Given the description of an element on the screen output the (x, y) to click on. 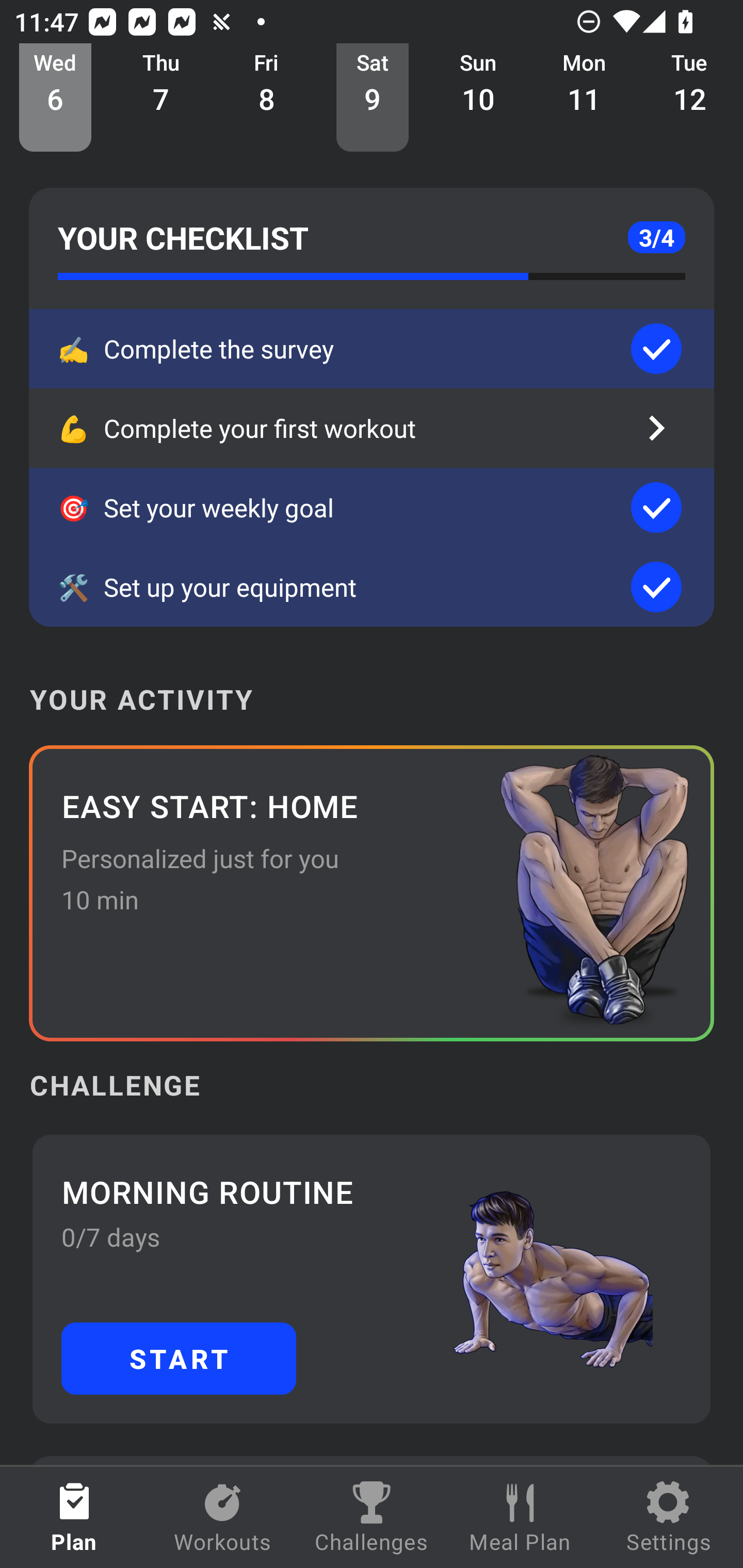
Wed 6 (55, 97)
Thu 7 (160, 97)
Fri 8 (266, 97)
Sat 9 (372, 97)
Sun 10 (478, 97)
Mon 11 (584, 97)
Tue 12 (690, 97)
💪 Complete your first workout (371, 427)
EASY START: HOME Personalized just for you 10 min (371, 892)
MORNING ROUTINE 0/7 days START (371, 1278)
START (178, 1357)
 Workouts  (222, 1517)
 Challenges  (371, 1517)
 Meal Plan  (519, 1517)
 Settings  (668, 1517)
